Given the description of an element on the screen output the (x, y) to click on. 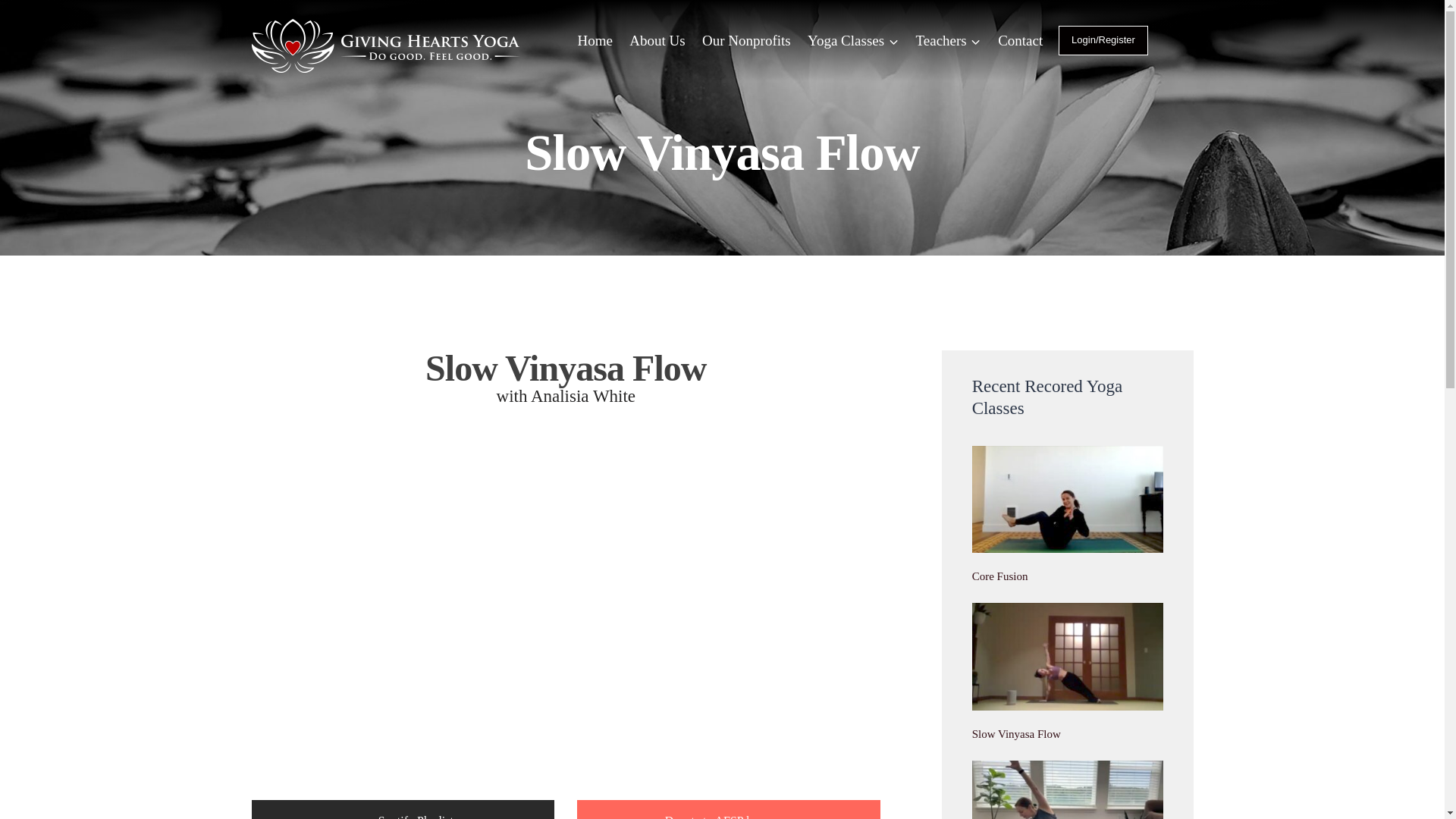
Spotify Playlist (402, 809)
Contact (1020, 40)
About Us (657, 40)
Home (595, 40)
Teachers (948, 40)
Yoga Classes (853, 40)
Donate to AFSP here (728, 809)
Core Fusion (999, 576)
Our Nonprofits (746, 40)
Slow Vinyasa Flow (1016, 734)
